Given the description of an element on the screen output the (x, y) to click on. 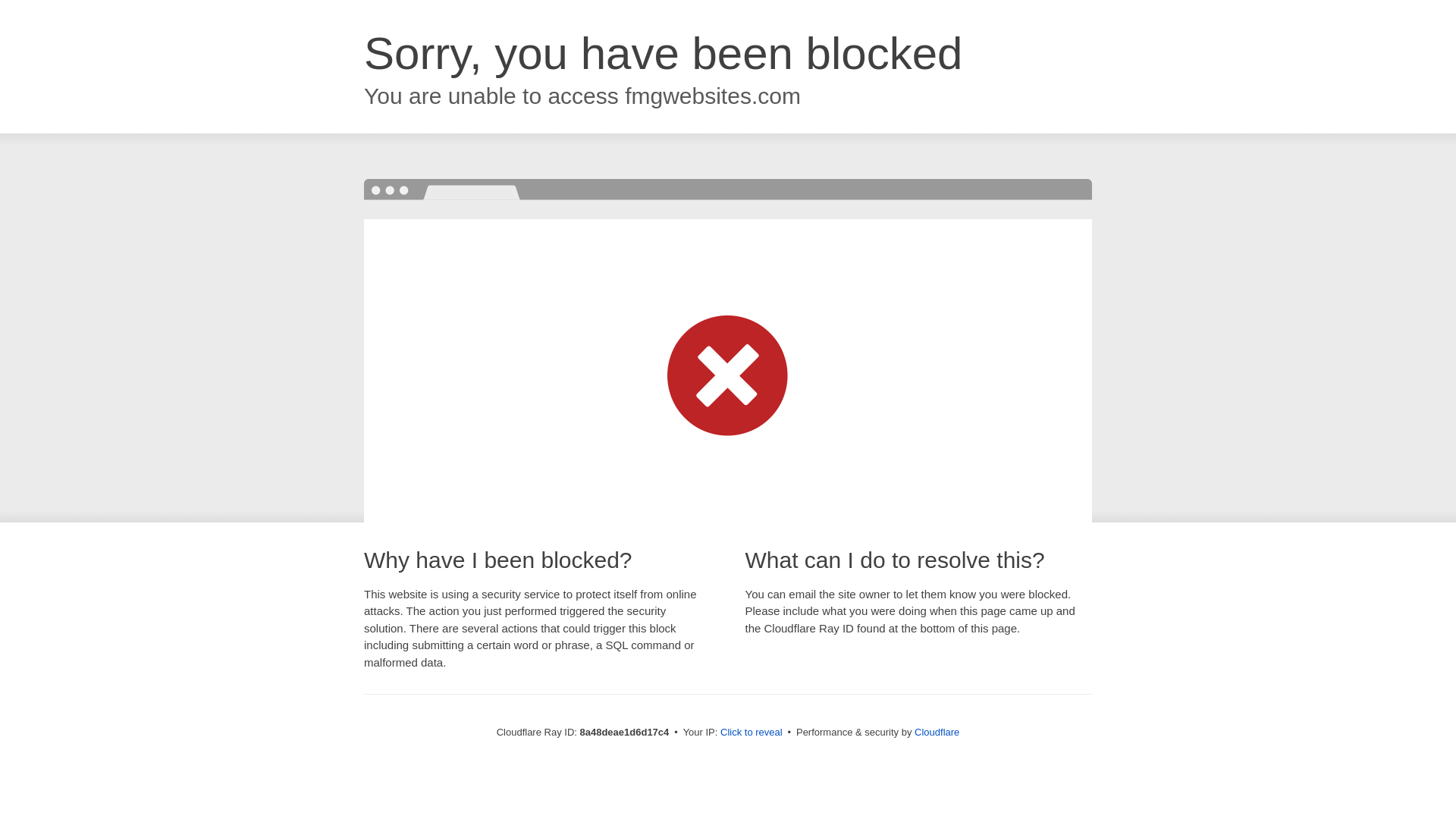
Click to reveal (751, 732)
Cloudflare (936, 731)
